Given the description of an element on the screen output the (x, y) to click on. 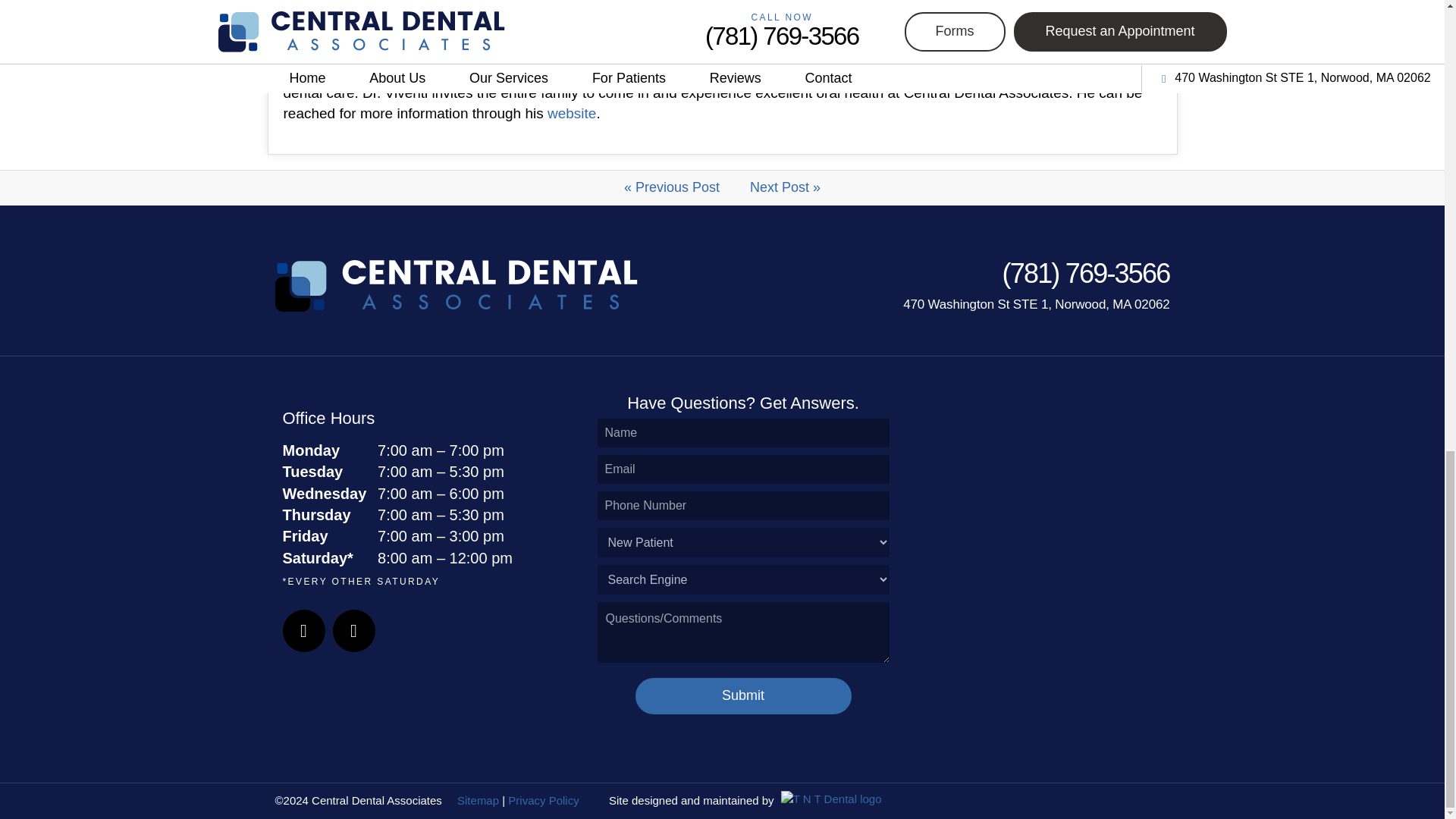
Submit (742, 696)
